Given the description of an element on the screen output the (x, y) to click on. 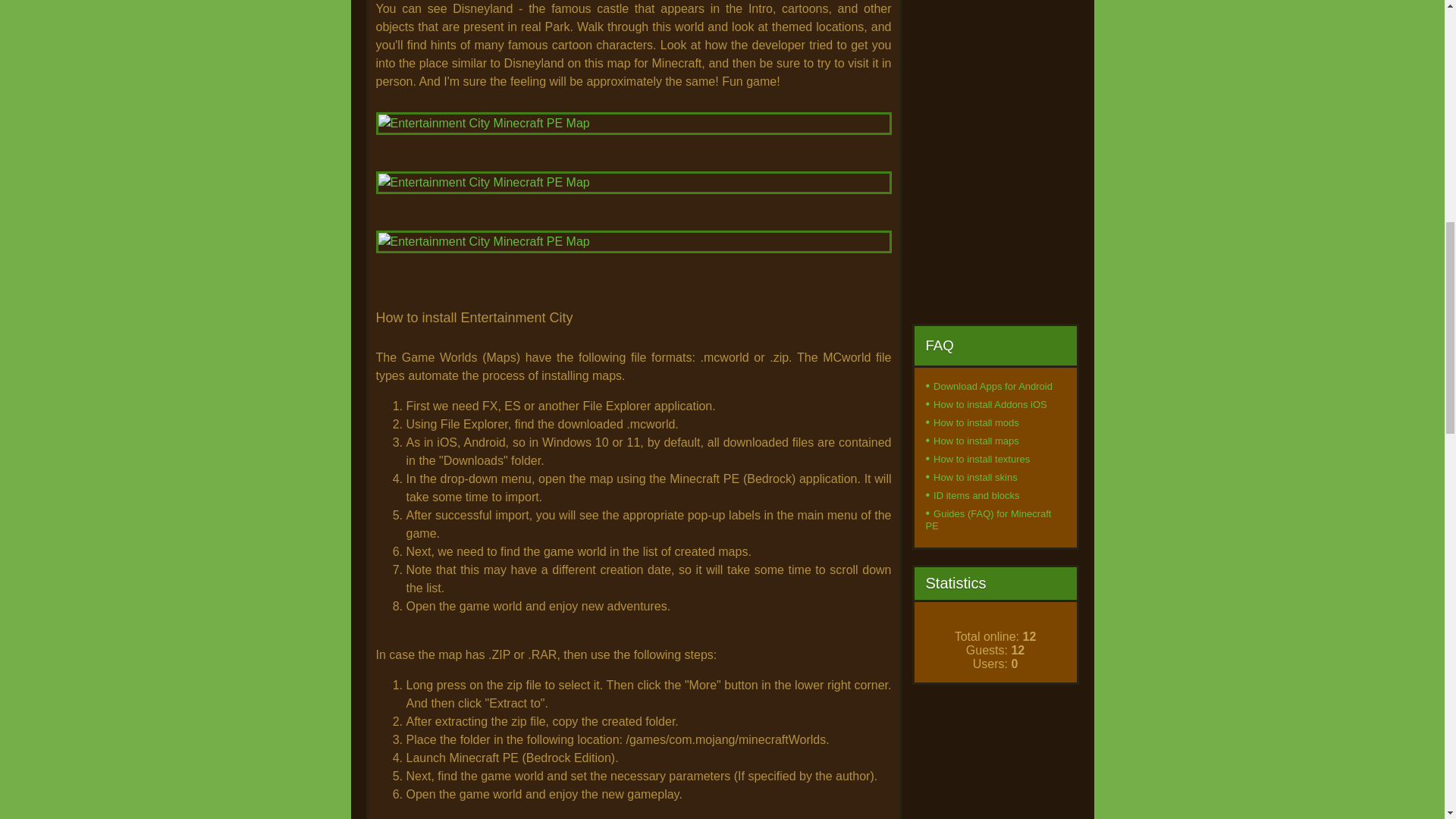
Click to view in full size... (633, 197)
Click to view in full size... (633, 256)
Entertainment City Minecraft PE Map (633, 123)
Entertainment City Minecraft PE Map (633, 182)
Click to view in full size... (633, 138)
